Given the description of an element on the screen output the (x, y) to click on. 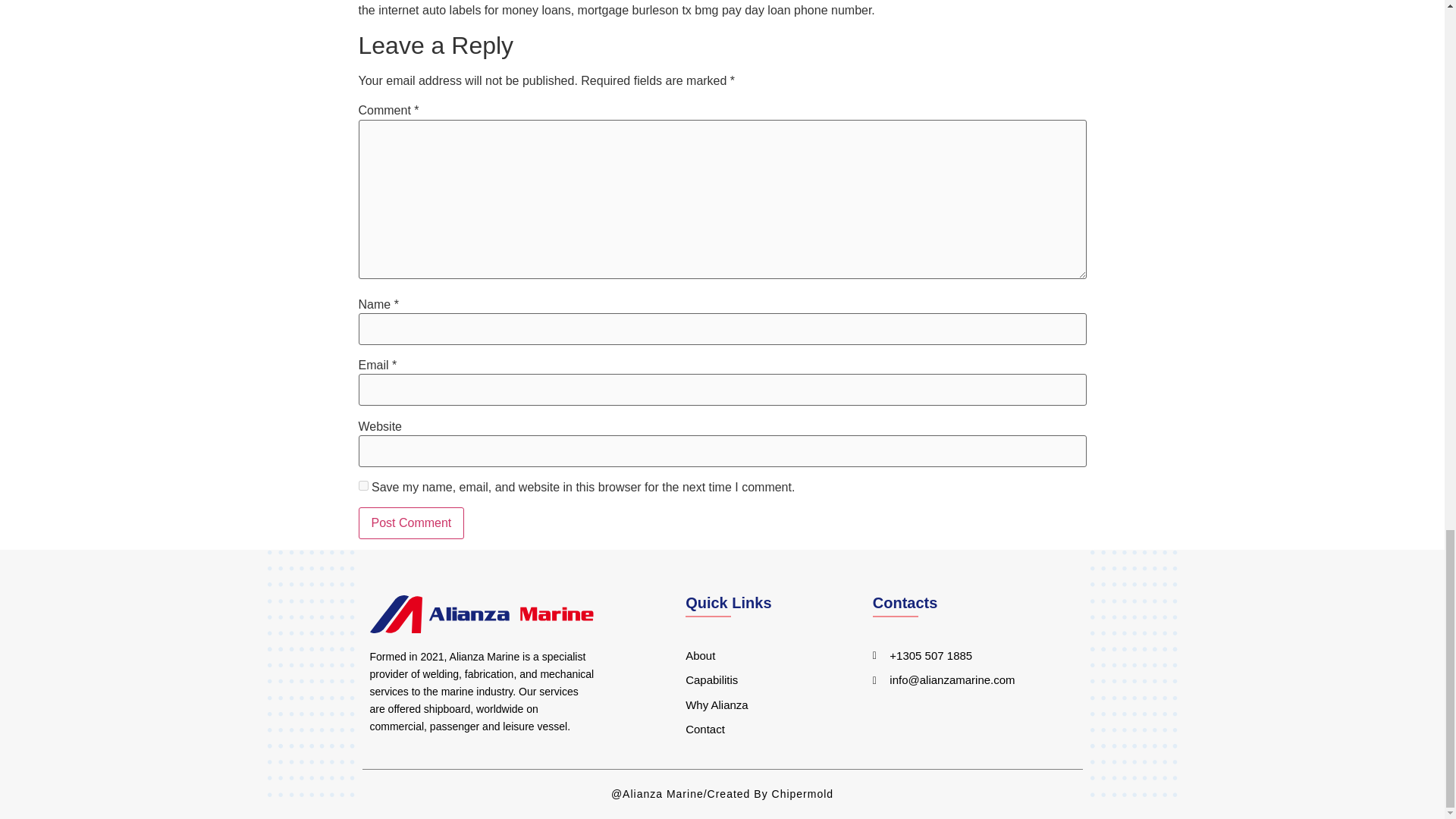
Contact (759, 729)
Post Comment (411, 522)
yes (363, 485)
Post Comment (411, 522)
Why Alianza (759, 705)
Capabilitis (759, 680)
About (759, 656)
